Given the description of an element on the screen output the (x, y) to click on. 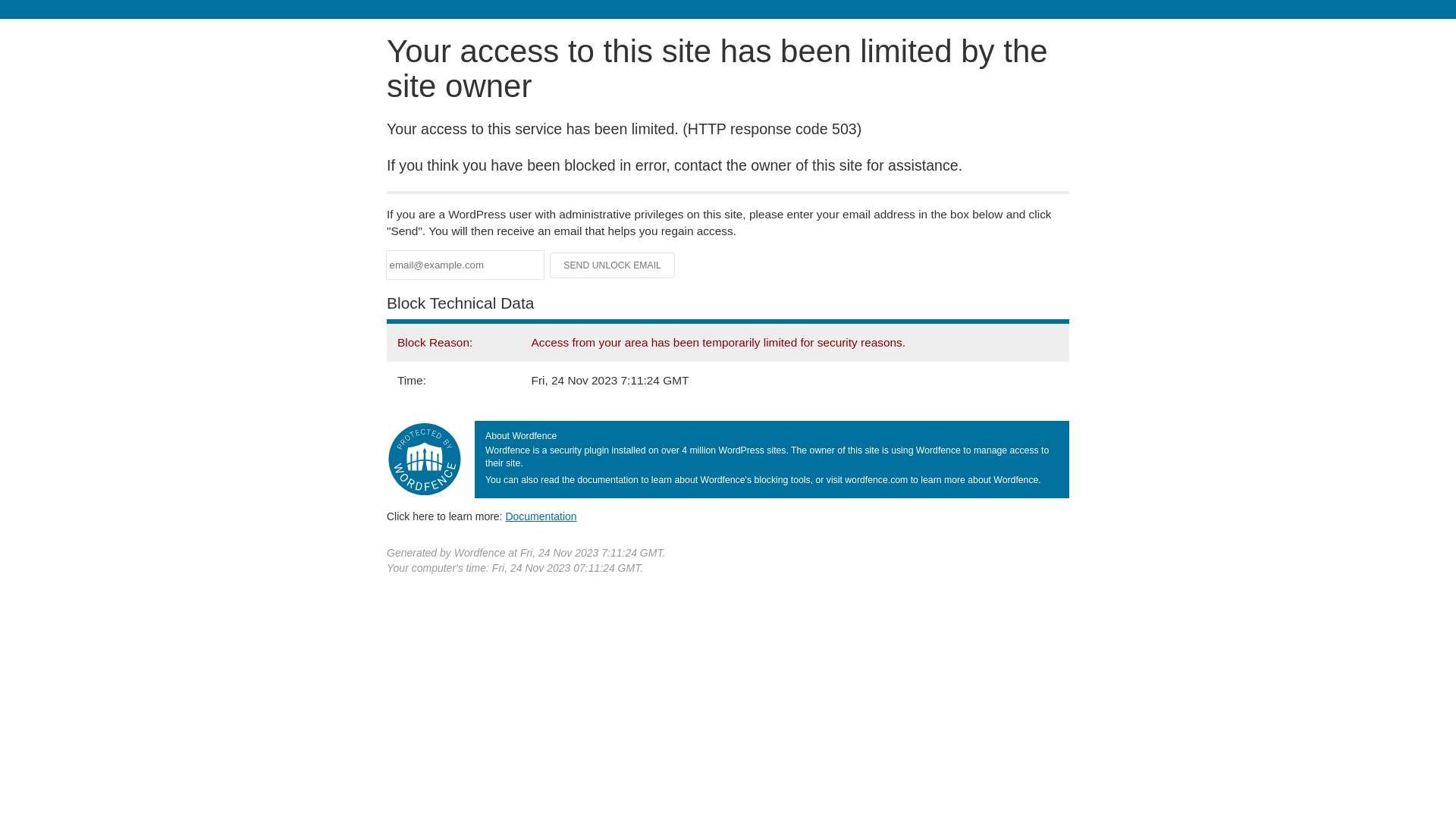
Send Unlock Email Element type: text (612, 265)
Documentation Element type: text (540, 516)
